Given the description of an element on the screen output the (x, y) to click on. 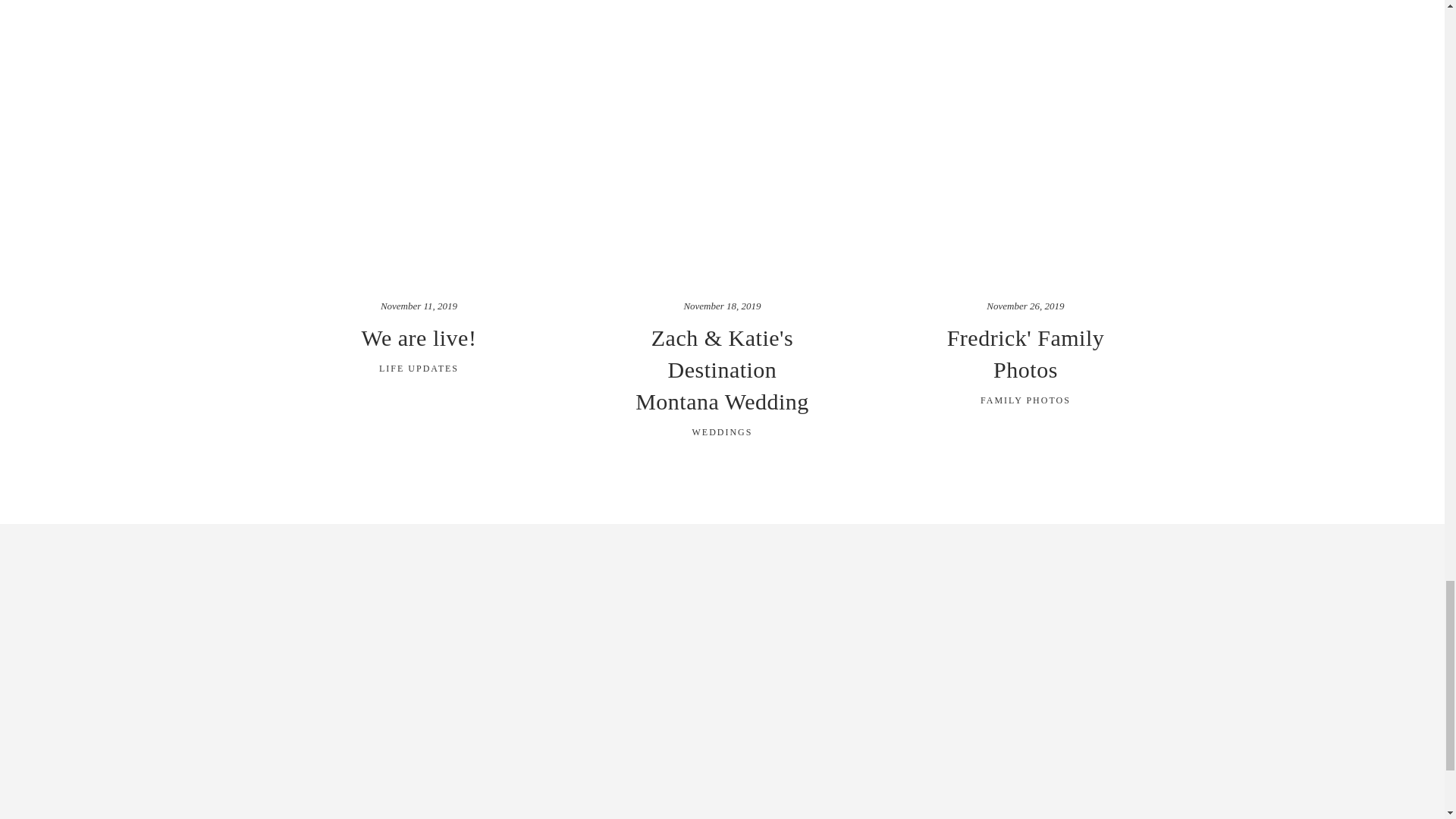
WEDDINGS (721, 431)
FAMILY PHOTOS (1024, 399)
LIFE UPDATES (418, 368)
